Given the description of an element on the screen output the (x, y) to click on. 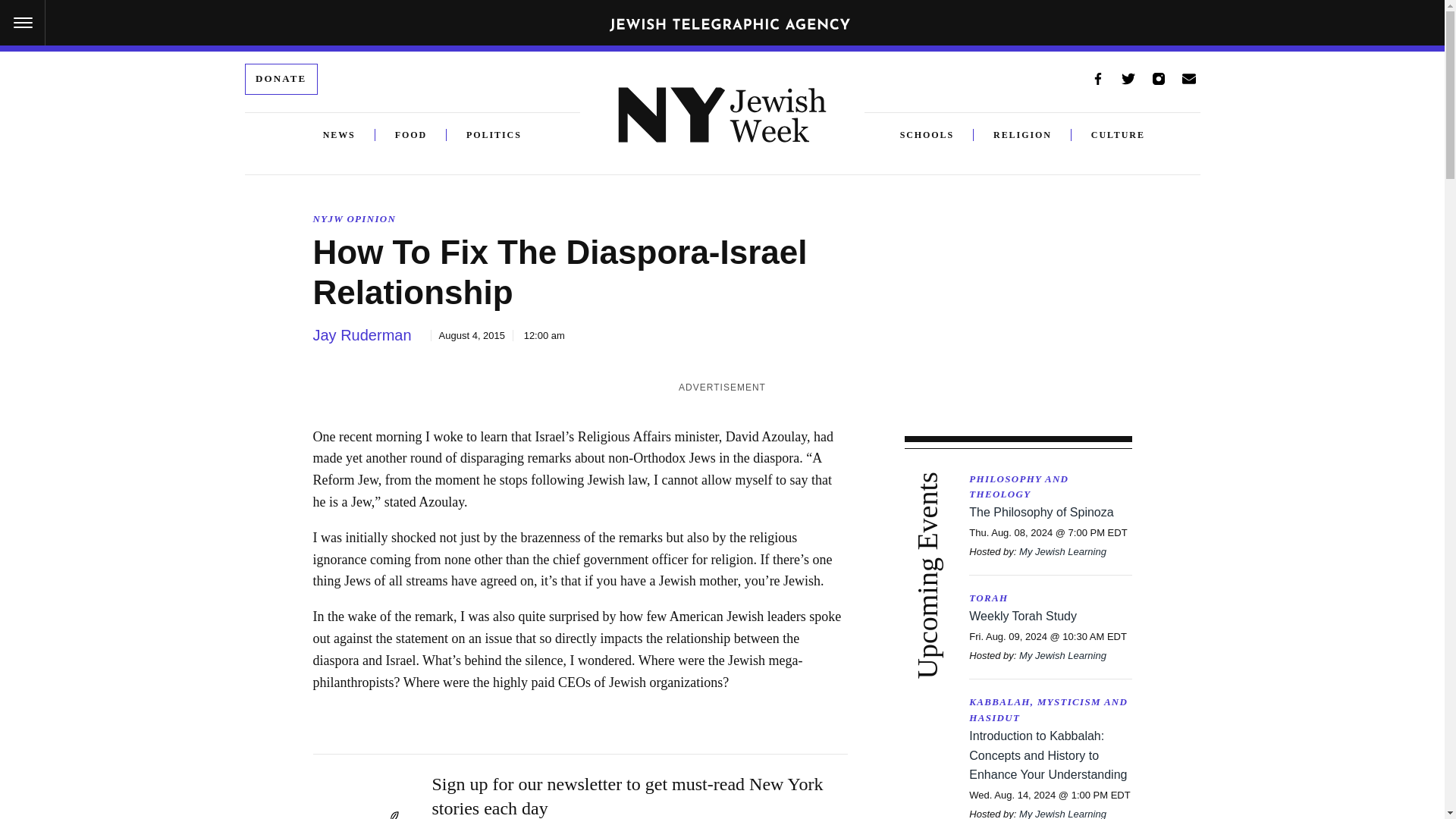
RELIGION (1022, 134)
Mobile menu toggle (22, 22)
FOOD (410, 134)
SCHOOLS (936, 134)
Philosophy and Theology (1050, 487)
NEWS (338, 134)
Torah (1050, 598)
CULTURE (1117, 134)
POLITICS (483, 134)
Kabbalah, Mysticism and Hasidut (1050, 710)
DONATE (280, 79)
